Given the description of an element on the screen output the (x, y) to click on. 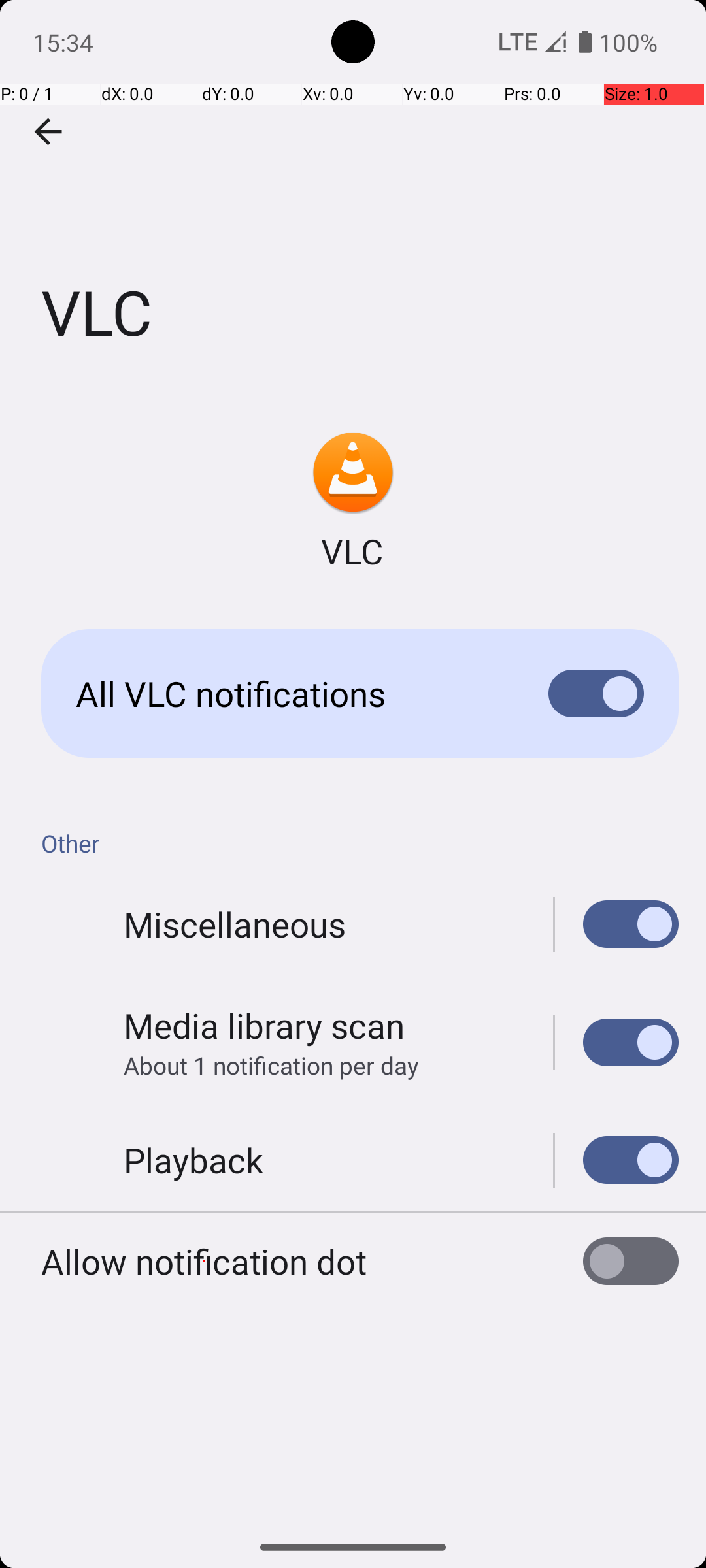
All VLC notifications Element type: android.widget.TextView (291, 693)
Media library scan Element type: android.widget.TextView (264, 1025)
About 1 notification per day Element type: android.widget.TextView (271, 1064)
Playback Element type: android.widget.TextView (193, 1159)
